Given the description of an element on the screen output the (x, y) to click on. 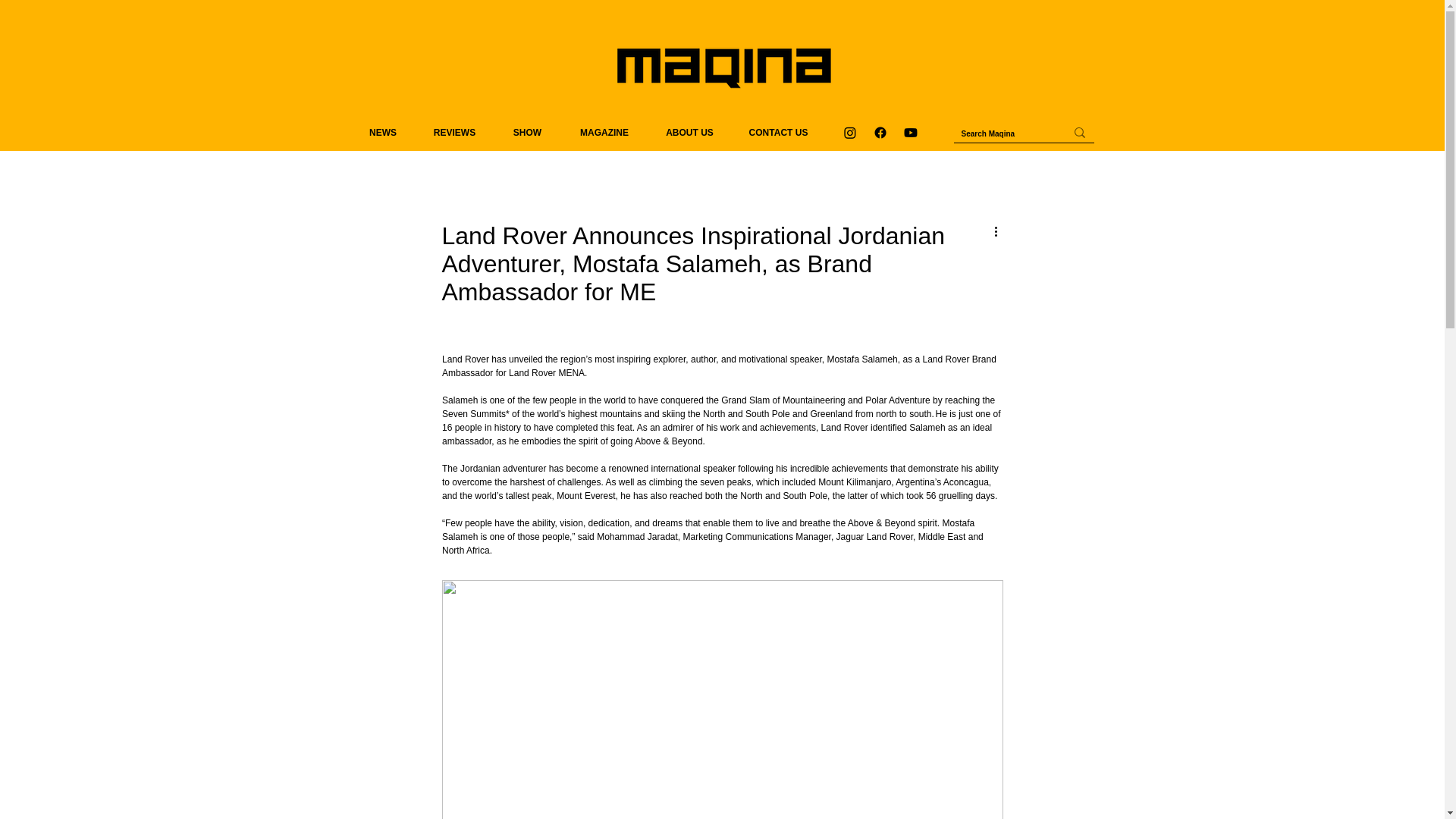
MAGAZINE (603, 132)
CONTACT US (777, 132)
SHOW (527, 132)
REVIEWS (454, 132)
NEWS (382, 132)
ABOUT US (688, 132)
